Given the description of an element on the screen output the (x, y) to click on. 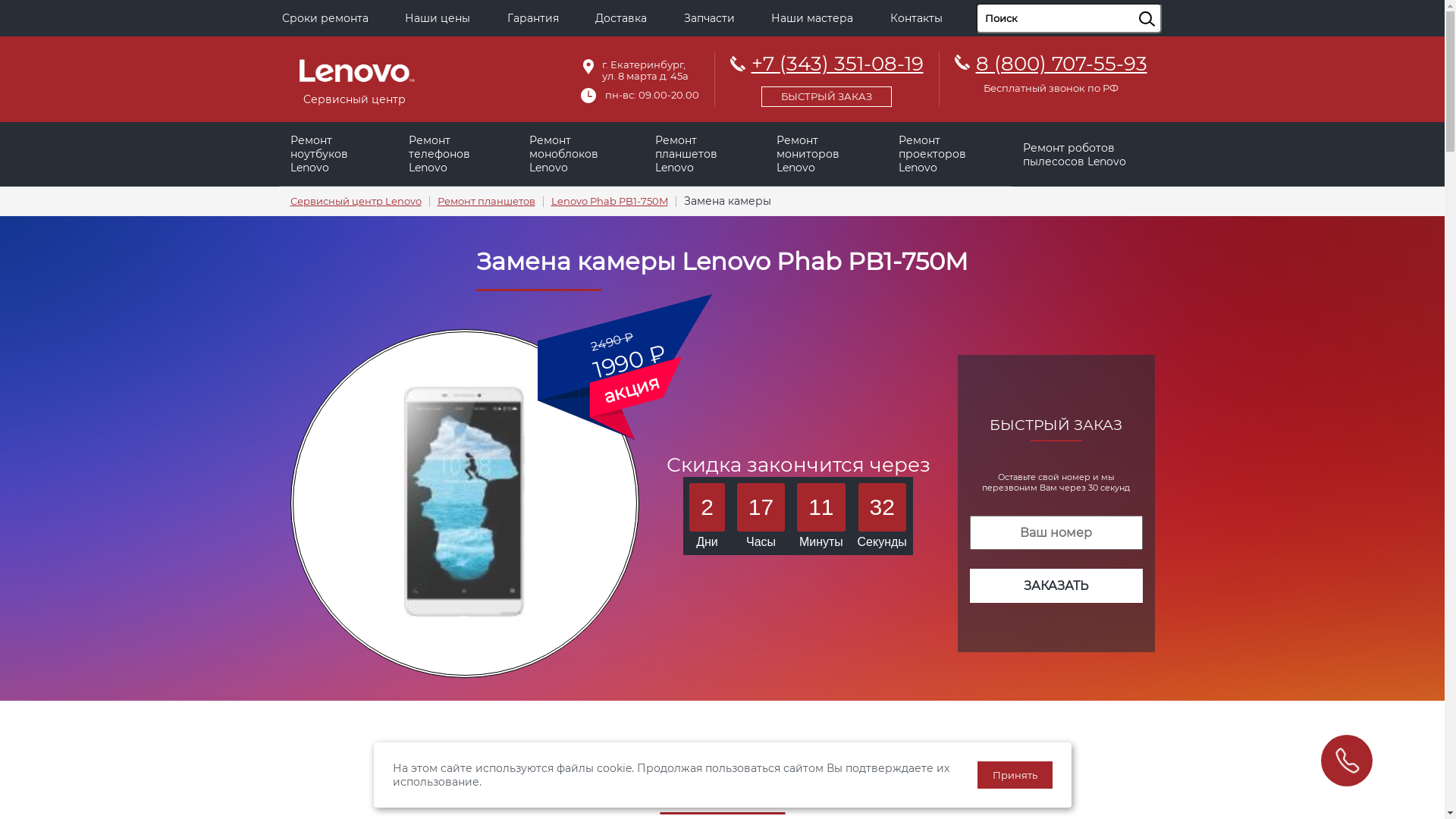
8 (800) 707-55-93 Element type: text (1060, 63)
Lenovo Phab PB1-750M Element type: text (608, 201)
+7 (343) 351-08-19 Element type: text (825, 77)
sisea.search Element type: text (1165, 3)
